Given the description of an element on the screen output the (x, y) to click on. 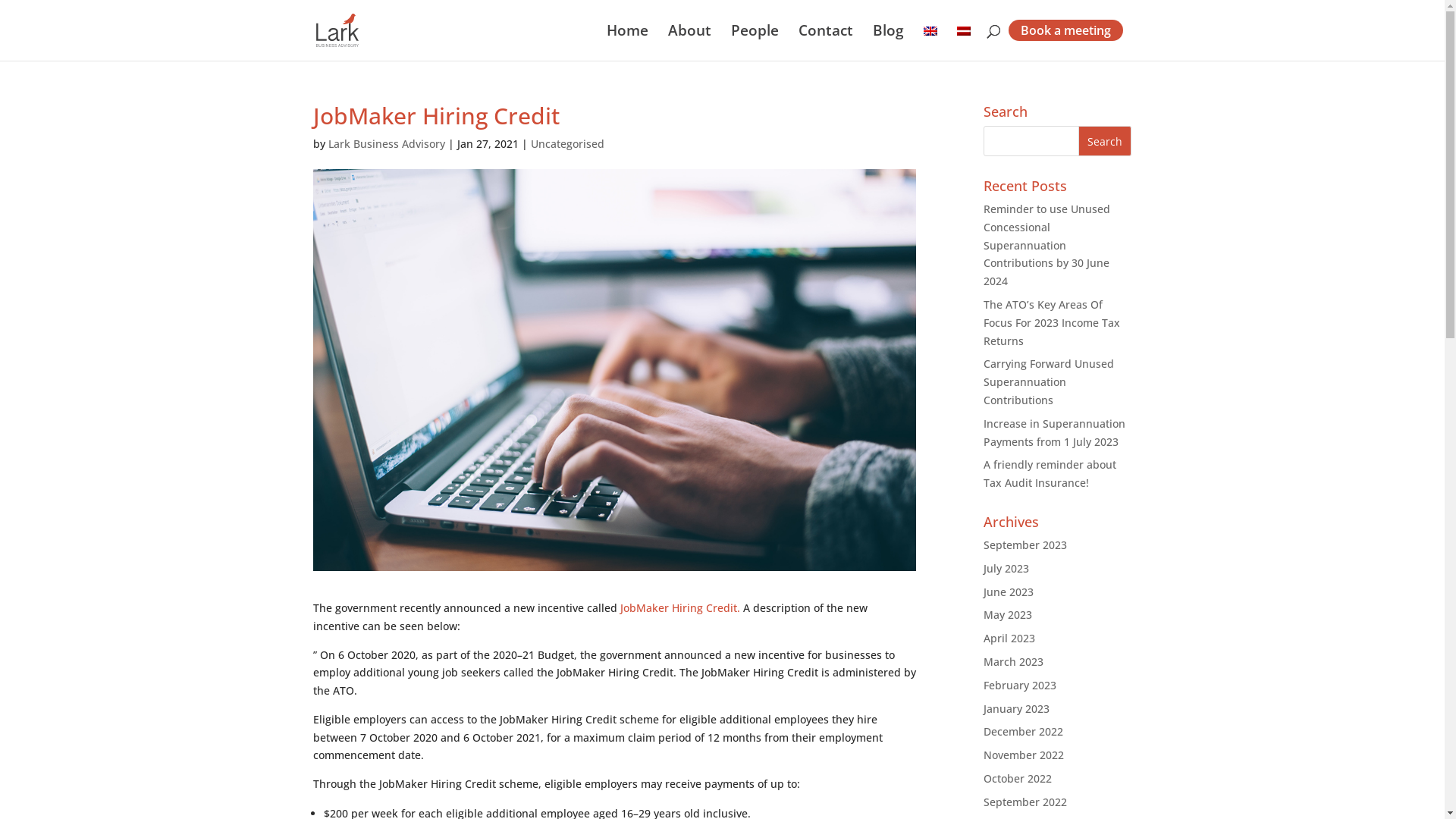
Search Element type: text (1104, 140)
September 2022 Element type: text (1024, 801)
Uncategorised Element type: text (567, 143)
June 2023 Element type: text (1008, 591)
February 2023 Element type: text (1019, 684)
July 2023 Element type: text (1006, 568)
About Element type: text (688, 42)
Book a meeting Element type: text (1065, 29)
October 2022 Element type: text (1017, 778)
January 2023 Element type: text (1016, 708)
People Element type: text (754, 42)
March 2023 Element type: text (1013, 661)
Increase in Superannuation Payments from 1 July 2023 Element type: text (1054, 432)
May 2023 Element type: text (1007, 614)
Blog Element type: text (887, 42)
A friendly reminder about Tax Audit Insurance! Element type: text (1049, 473)
November 2022 Element type: text (1023, 754)
Lark Business Advisory Element type: text (385, 143)
December 2022 Element type: text (1023, 731)
Carrying Forward Unused Superannuation Contributions Element type: text (1048, 381)
English Element type: hover (930, 30)
JobMaker Hiring Credit. Element type: text (680, 607)
April 2023 Element type: text (1009, 637)
Contact Element type: text (824, 42)
September 2023 Element type: text (1024, 544)
Home Element type: text (627, 42)
